Given the description of an element on the screen output the (x, y) to click on. 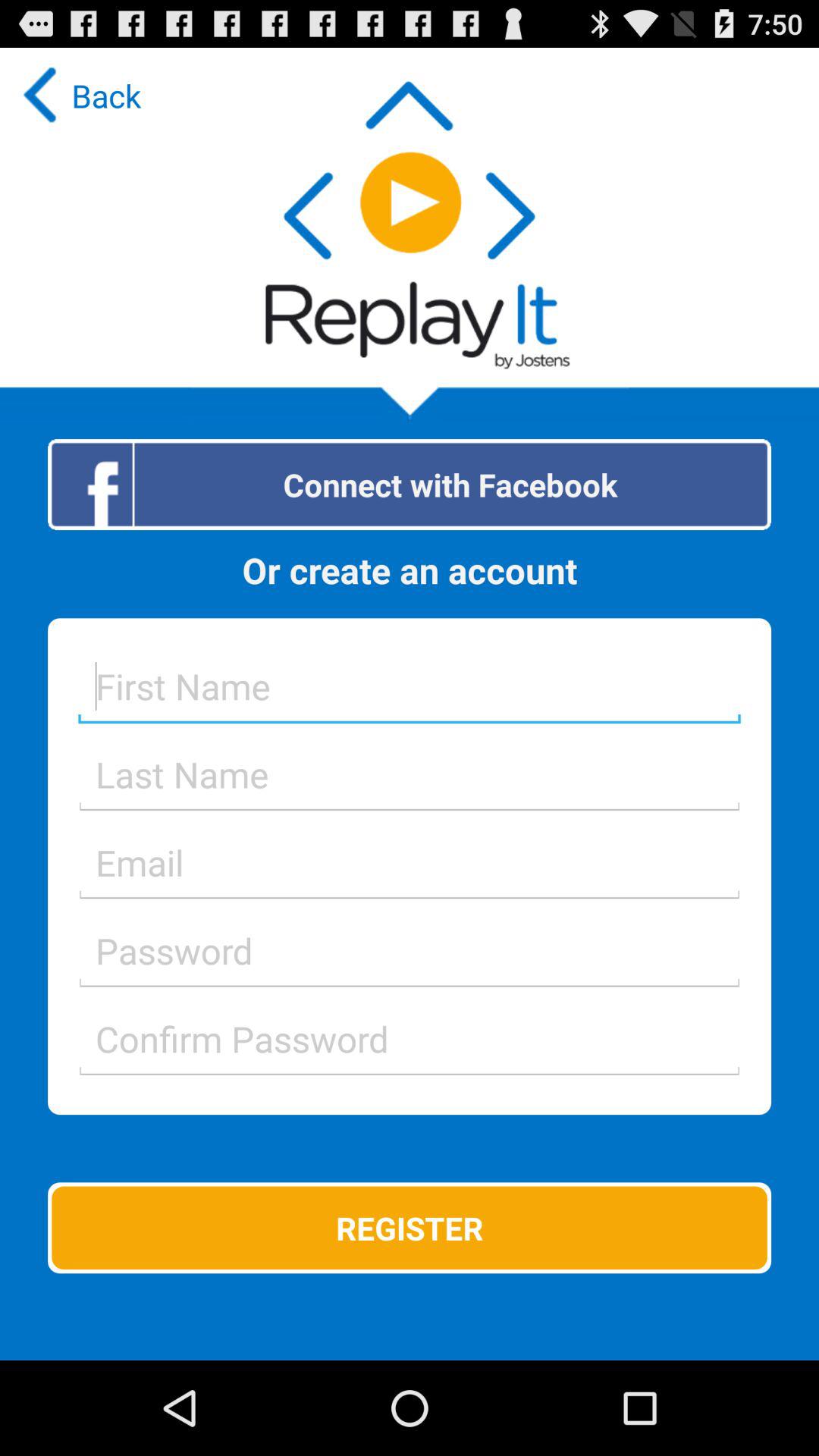
flip to connect with facebook button (409, 484)
